Given the description of an element on the screen output the (x, y) to click on. 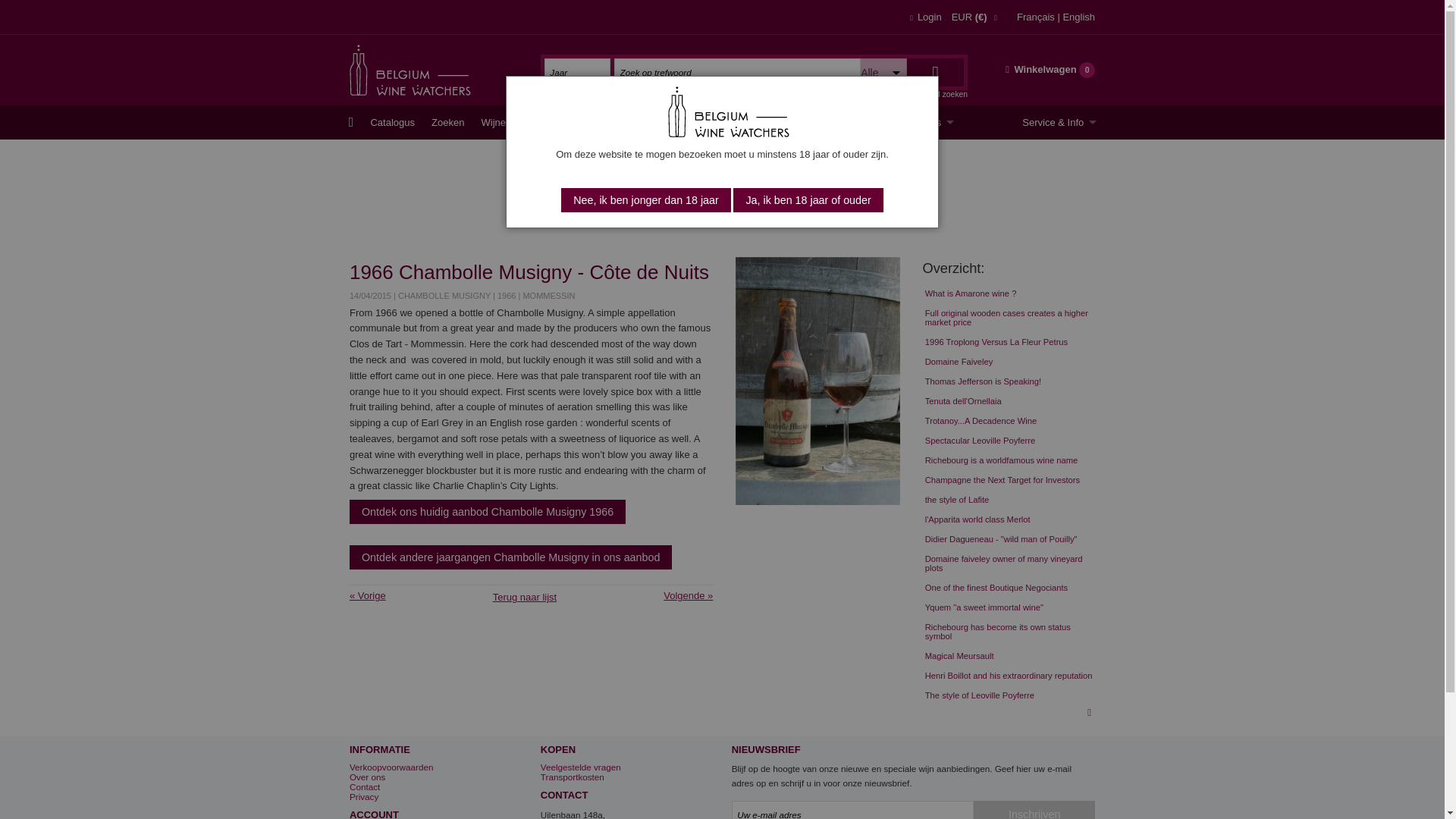
Snel bestellen (868, 122)
Wijnen (496, 122)
Catalogus (392, 122)
Winkelwagen 0 (1050, 69)
Login (925, 16)
English (1078, 16)
Geschenken (793, 122)
Blogs (935, 122)
Zoeken (447, 122)
Geavanceerd zoeken (930, 94)
Inschrijven (1034, 809)
Sterke dranken (715, 122)
Champagnes (556, 122)
